Given the description of an element on the screen output the (x, y) to click on. 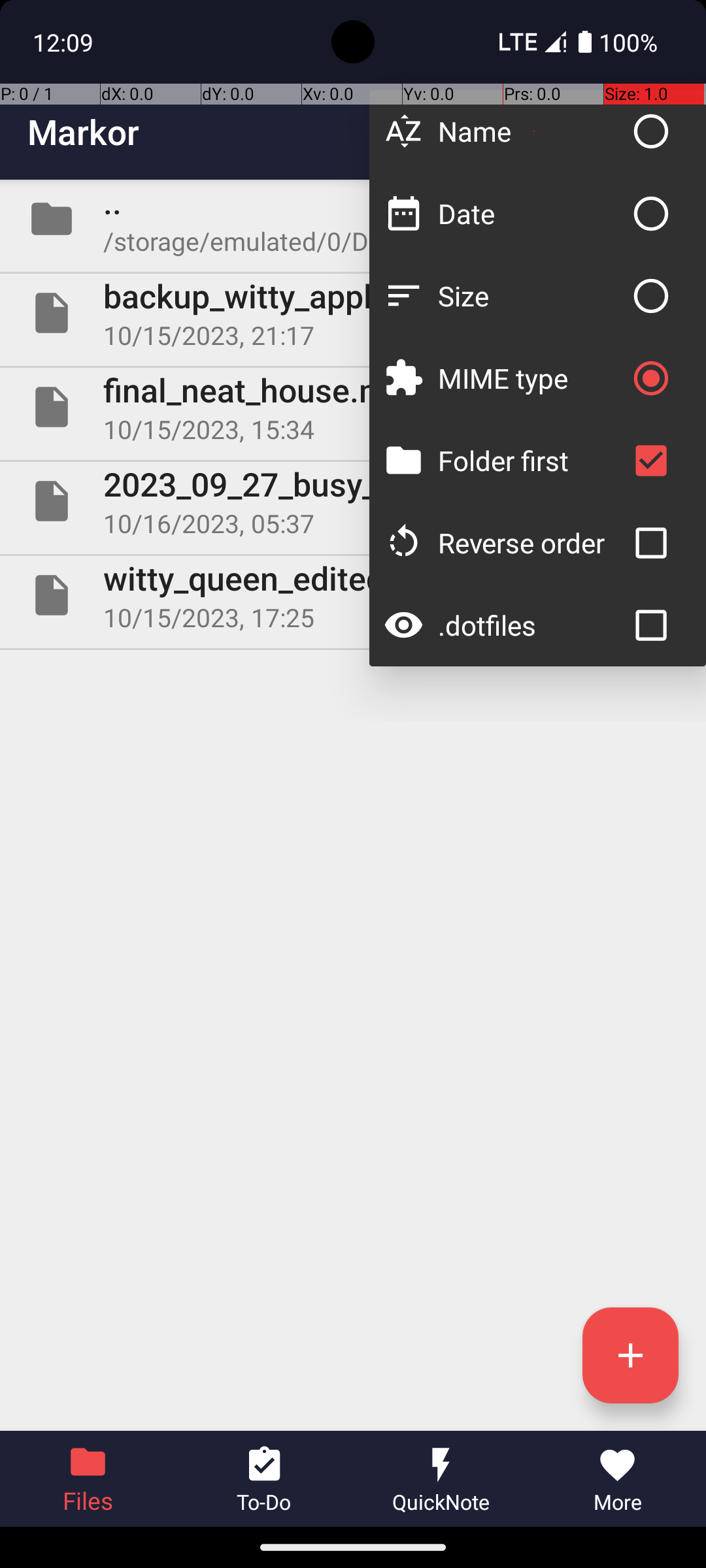
12:09 Element type: android.widget.TextView (64, 41)
